Given the description of an element on the screen output the (x, y) to click on. 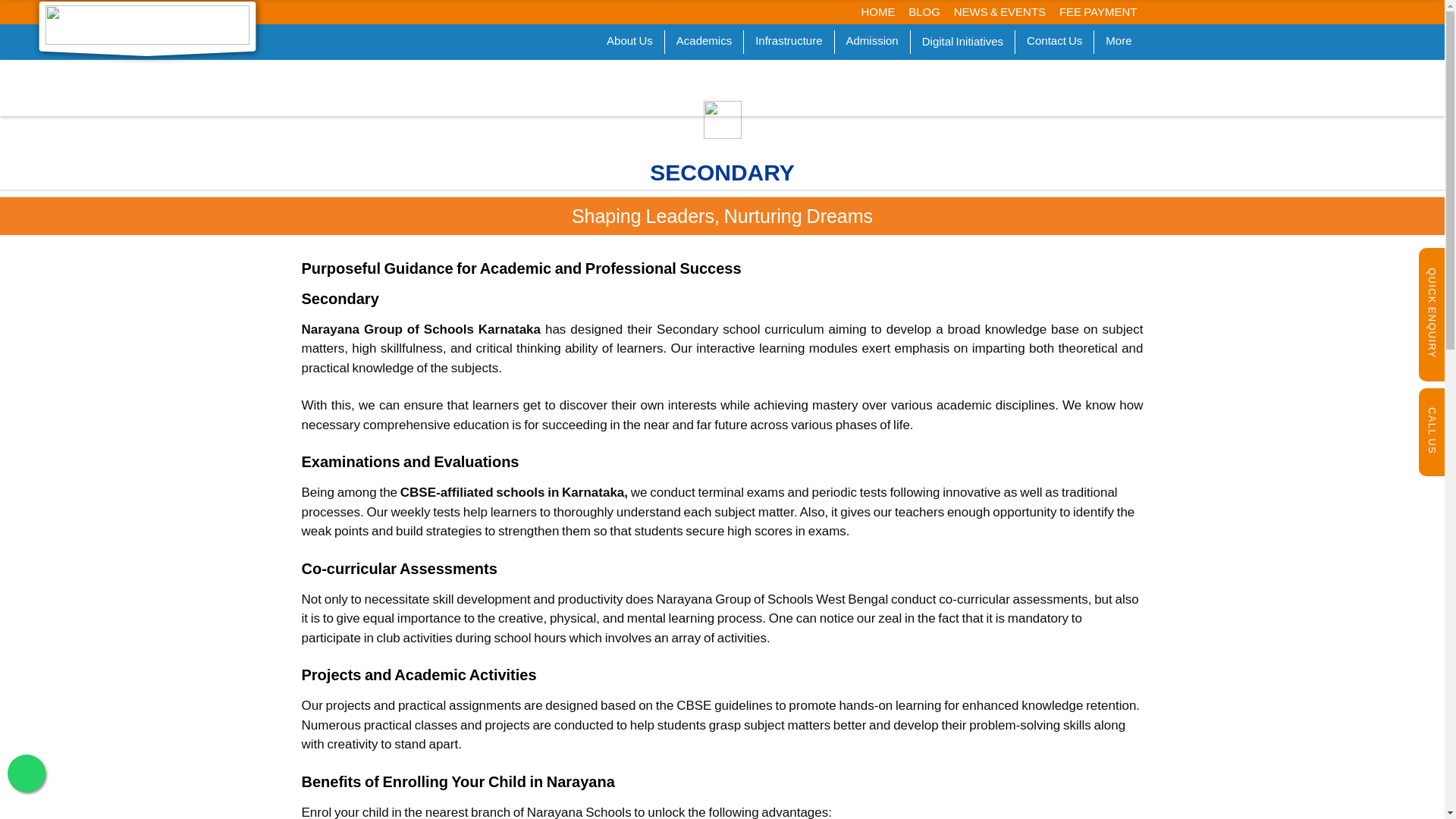
Infrastructure (788, 41)
More (1118, 41)
Admission (872, 41)
HOME (877, 11)
FEE PAYMENT (1097, 11)
BLOG (924, 11)
Contact Us (1053, 41)
About Us (629, 41)
Academics (703, 41)
